Given the description of an element on the screen output the (x, y) to click on. 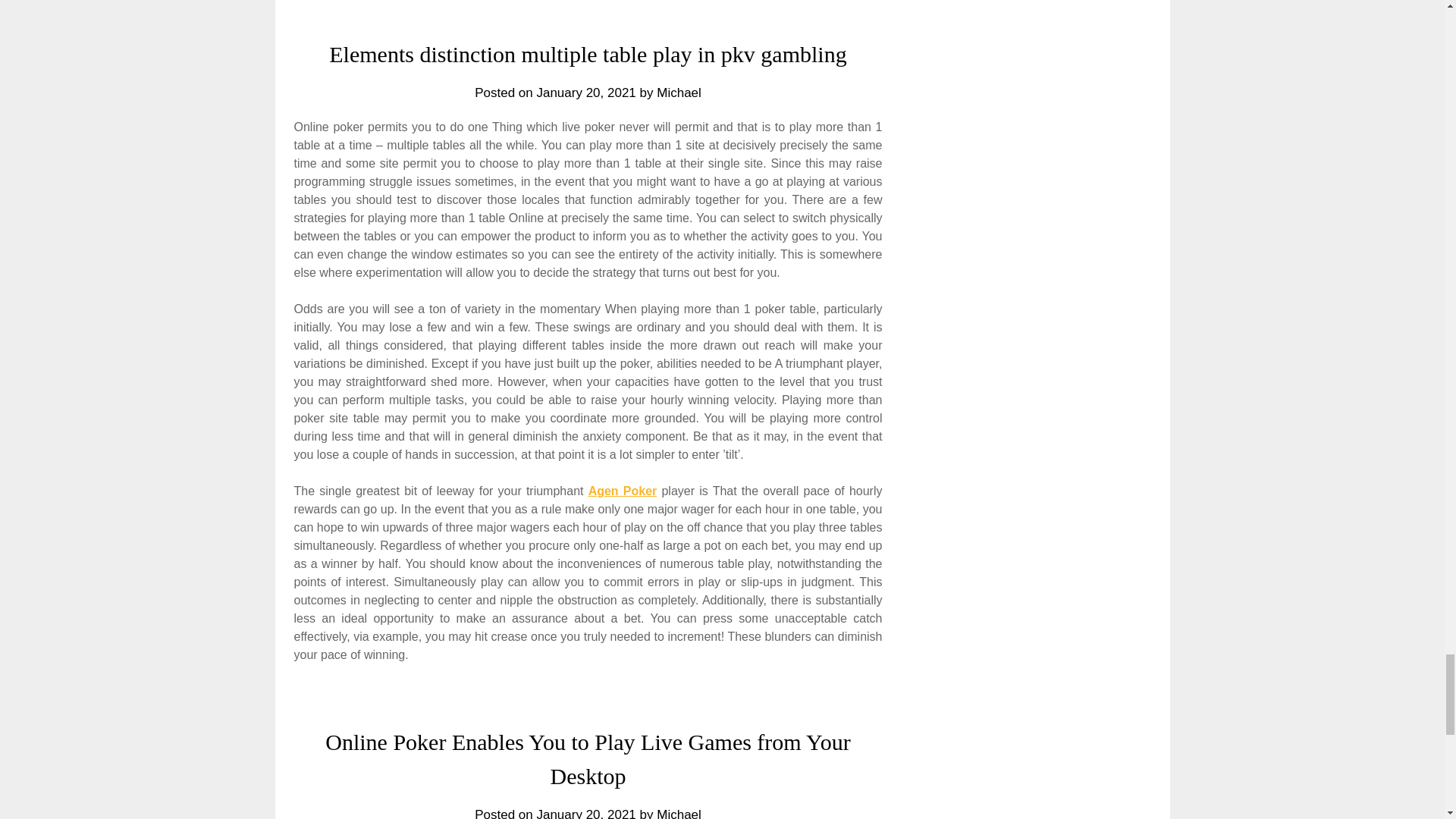
Elements distinction multiple table play in pkv gambling (587, 53)
